Given the description of an element on the screen output the (x, y) to click on. 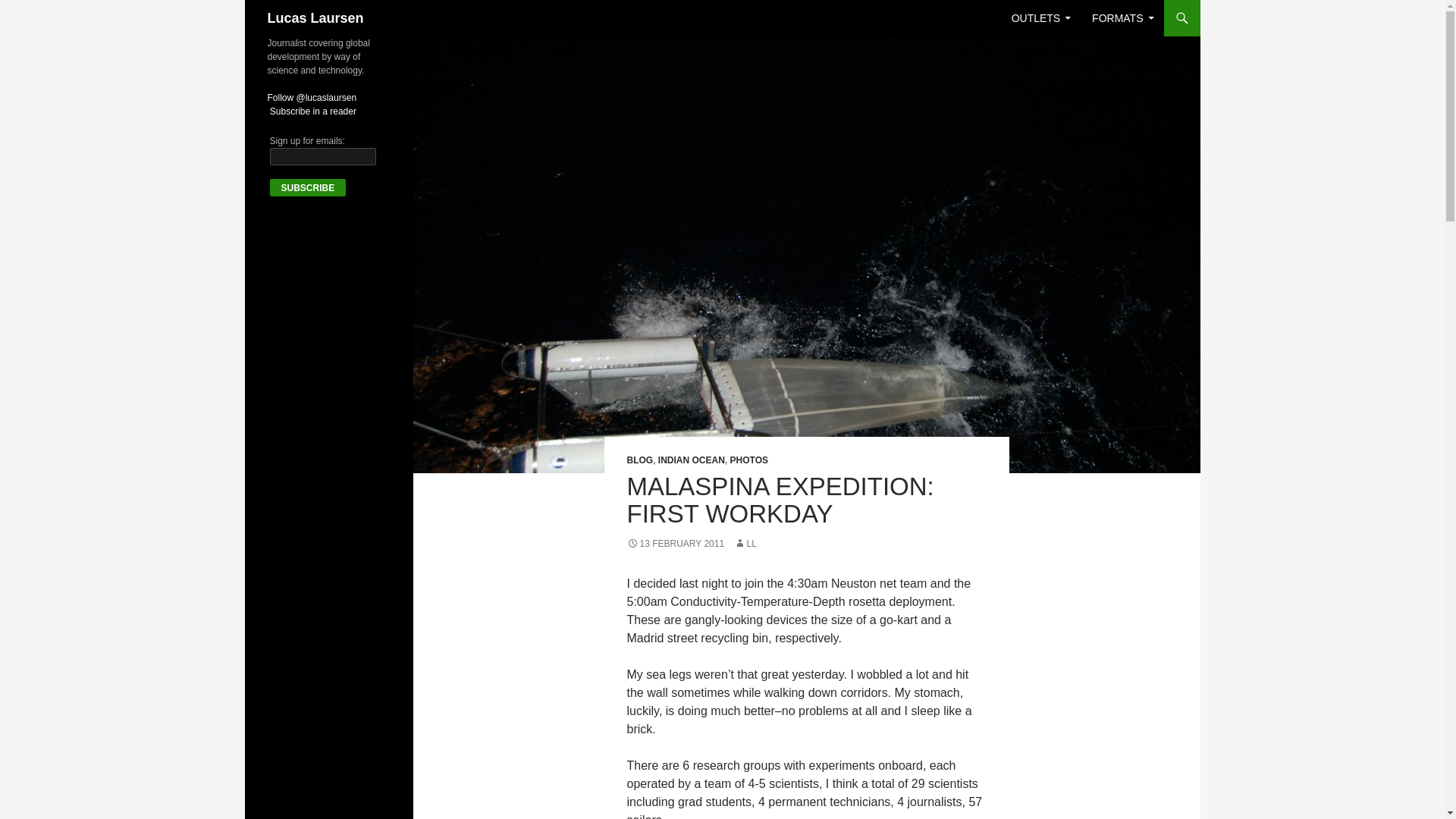
PHOTOS (749, 460)
Lucas Laursen (314, 18)
INDIAN OCEAN (691, 460)
OUTLETS (1041, 18)
Subscribe (307, 187)
BLOG (639, 460)
13 FEBRUARY 2011 (674, 543)
FORMATS (1122, 18)
